Given the description of an element on the screen output the (x, y) to click on. 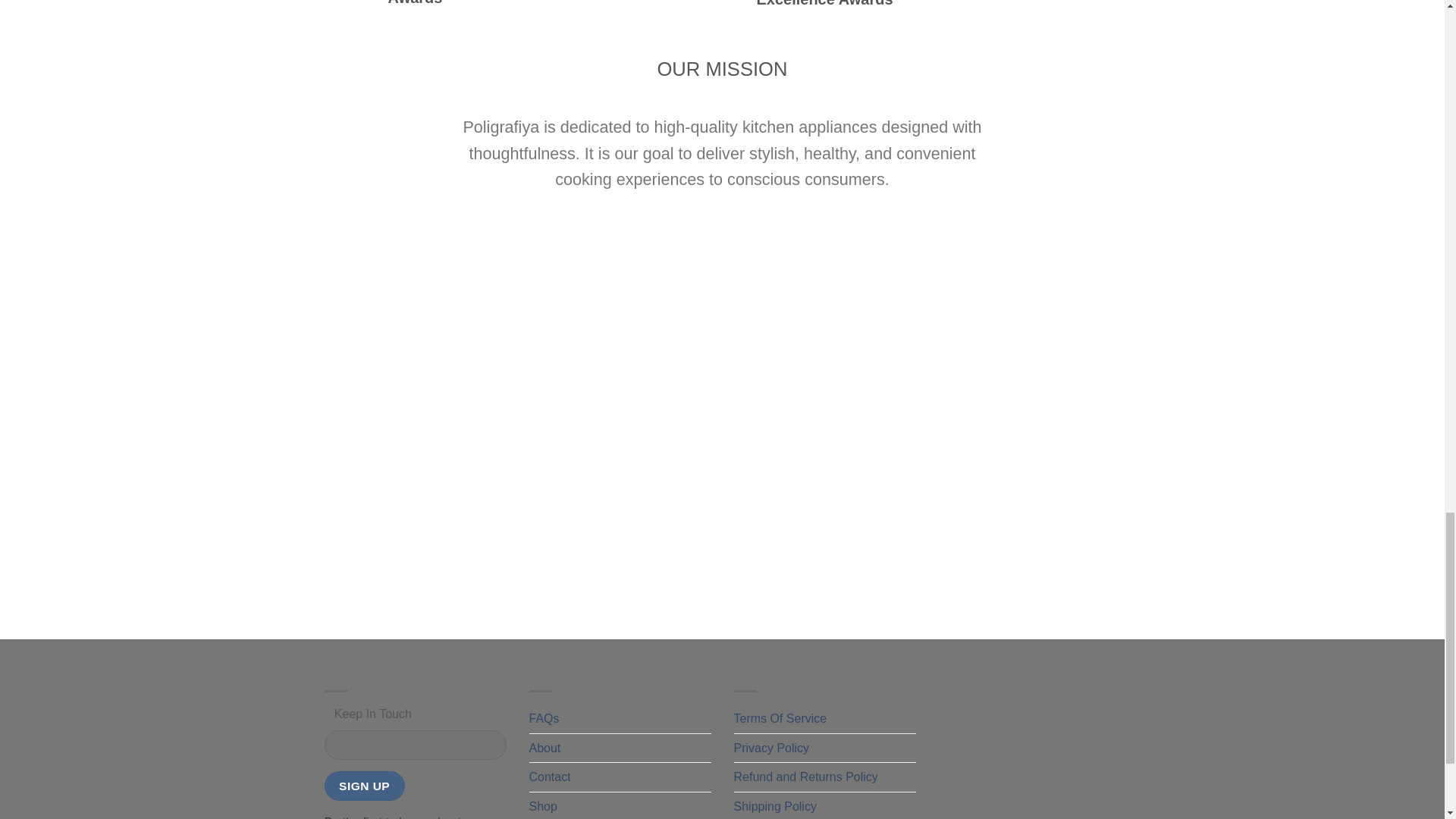
Refund and Returns Policy (805, 776)
Terms Of Service (780, 718)
Sign Up (364, 785)
FAQs (544, 718)
Privacy Policy (771, 747)
Contact (549, 776)
Shop (543, 805)
Sign Up (364, 785)
About (544, 747)
Shipping Policy (774, 805)
